Given the description of an element on the screen output the (x, y) to click on. 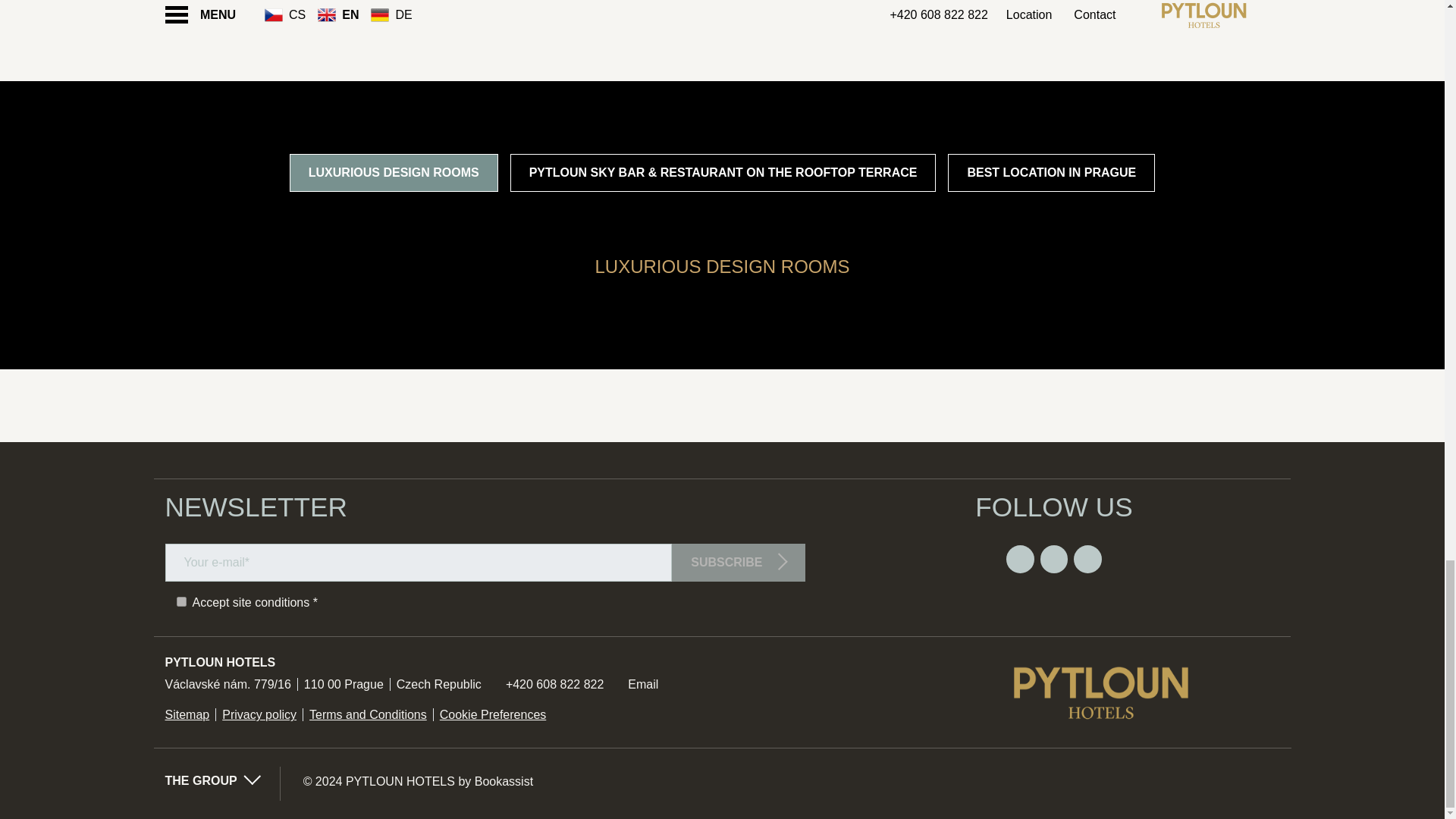
Cookie Preferences (493, 714)
on (181, 601)
